Given the description of an element on the screen output the (x, y) to click on. 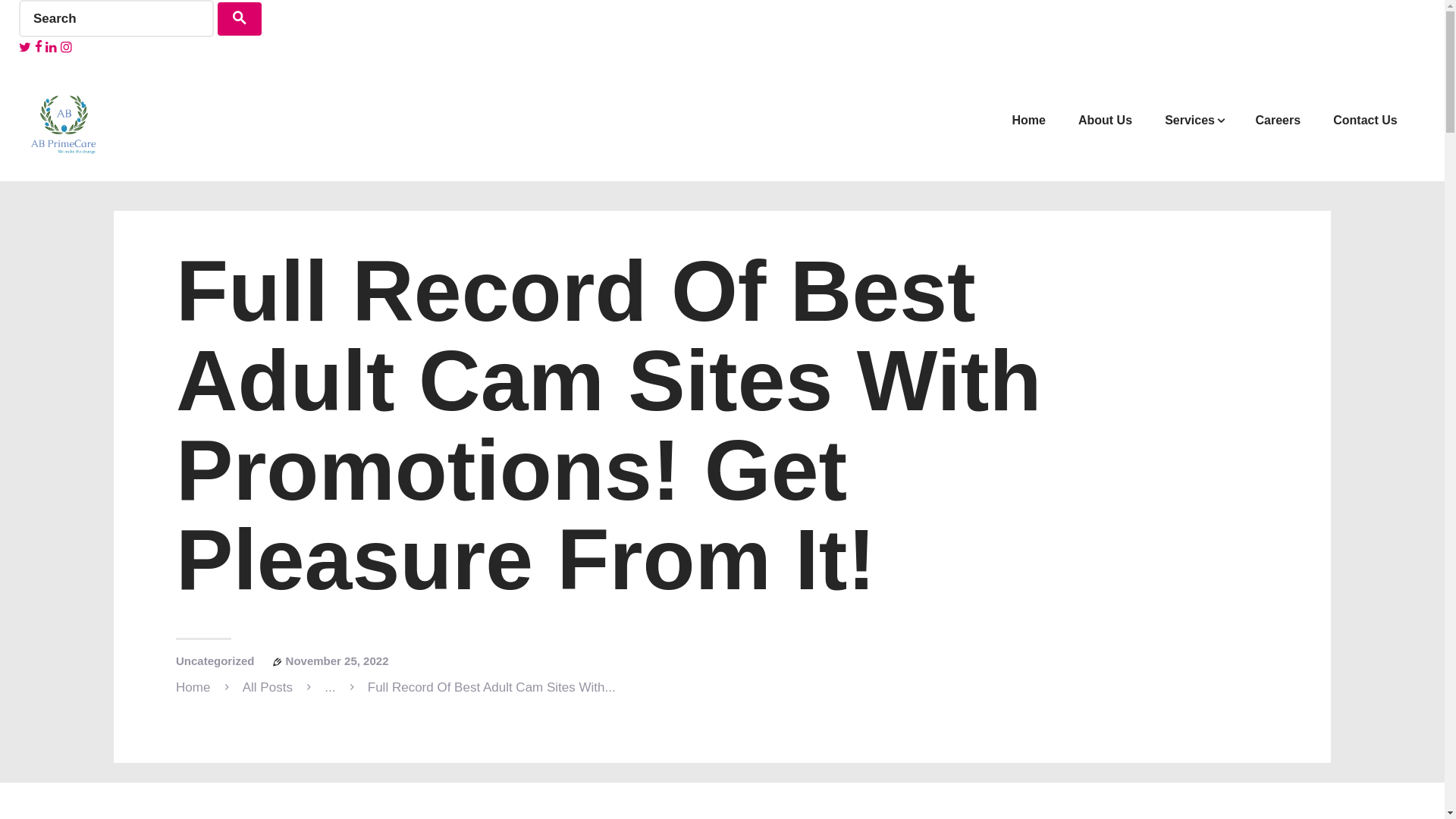
Home (192, 687)
November 25, 2022 (336, 660)
All Posts (267, 687)
Uncategorized (214, 660)
Careers (1278, 120)
About Us (1104, 120)
Home (1028, 120)
Contact Us (1365, 120)
Services (1193, 120)
